Given the description of an element on the screen output the (x, y) to click on. 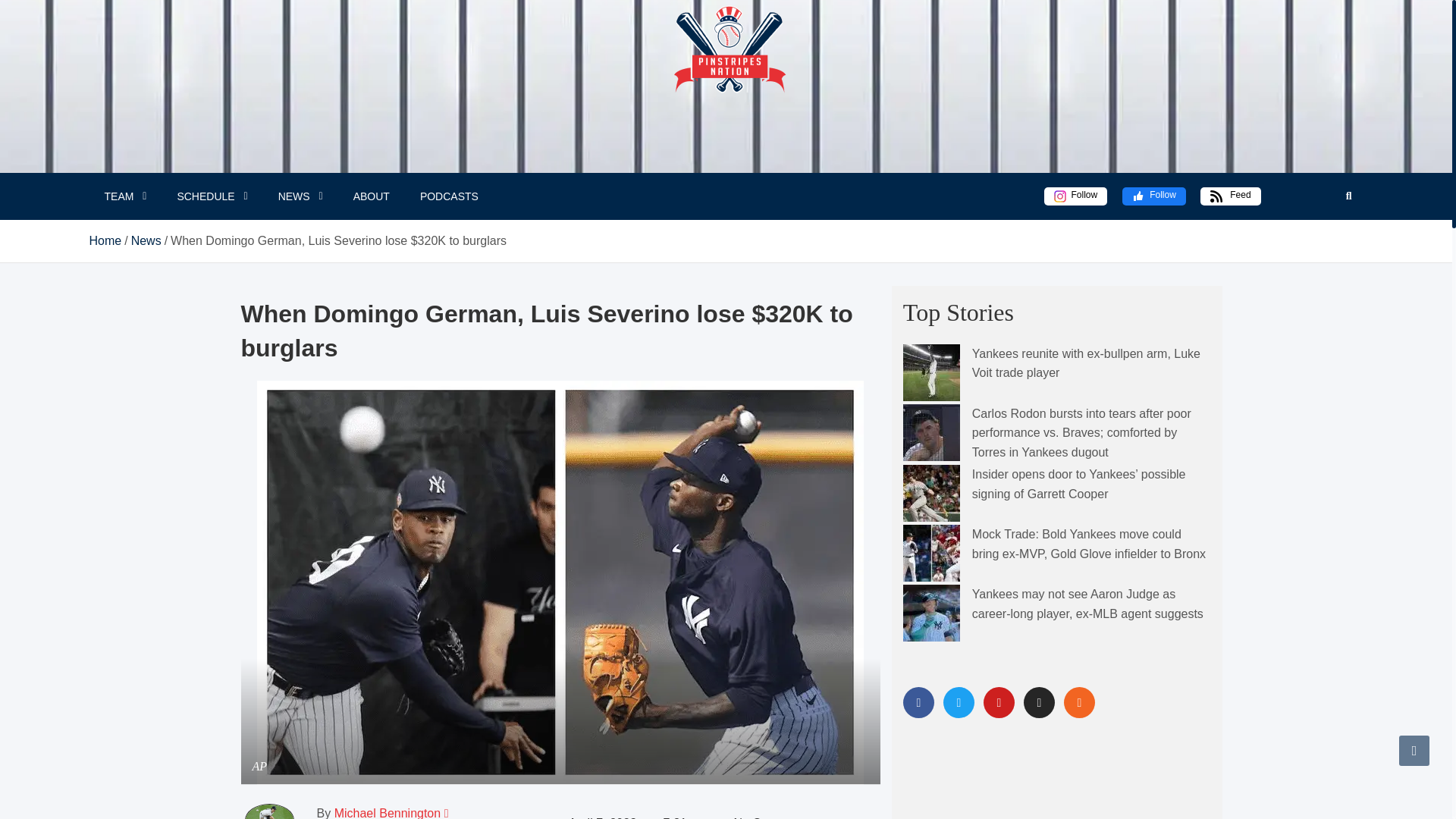
Home (105, 240)
ABOUT (370, 196)
NEWS (300, 196)
Pinstripes Nation (721, 86)
TEAM (124, 196)
Follow (1154, 196)
Feed (1229, 196)
Michael Bennington (387, 812)
April 7, 2023 (595, 816)
News (146, 240)
Follow (1074, 196)
Follow Pinstripes Nation's Page on Facebook (1154, 196)
No Comments (764, 816)
Follow Pinstripes Nation's Page on Instagram (1074, 196)
SCHEDULE (211, 196)
